Given the description of an element on the screen output the (x, y) to click on. 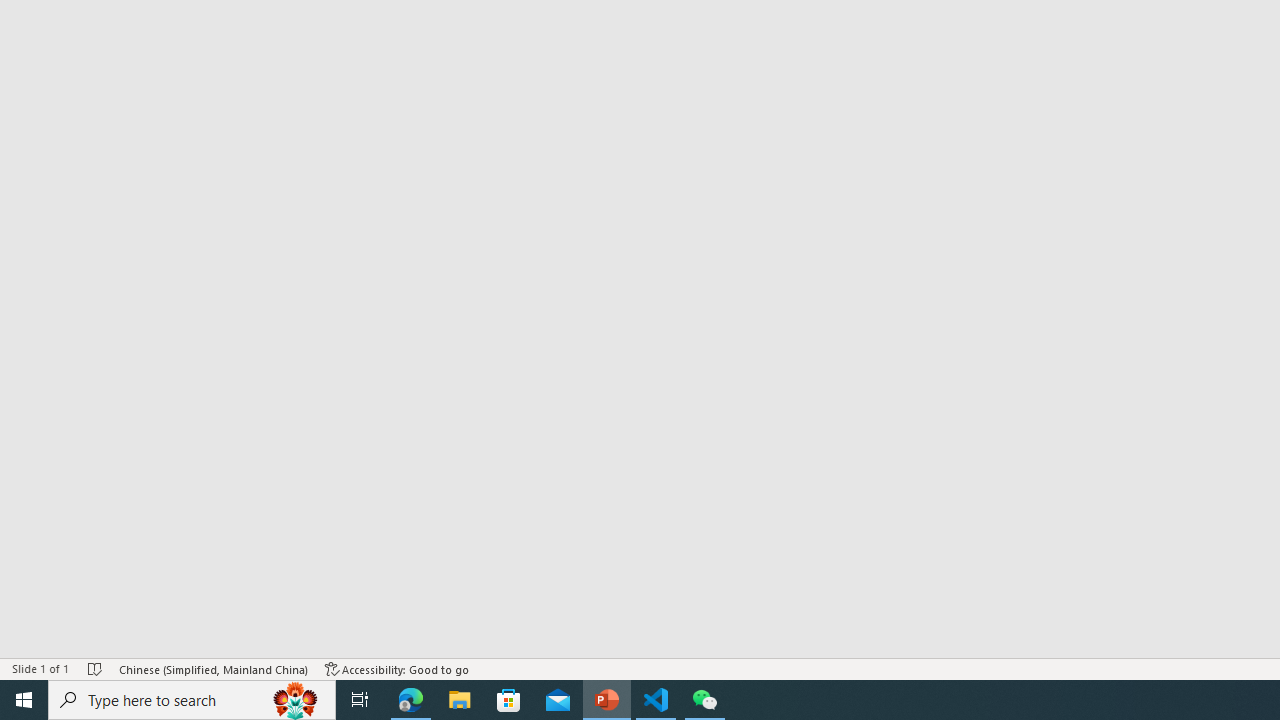
Accessibility Checker Accessibility: Good to go (397, 668)
